Given the description of an element on the screen output the (x, y) to click on. 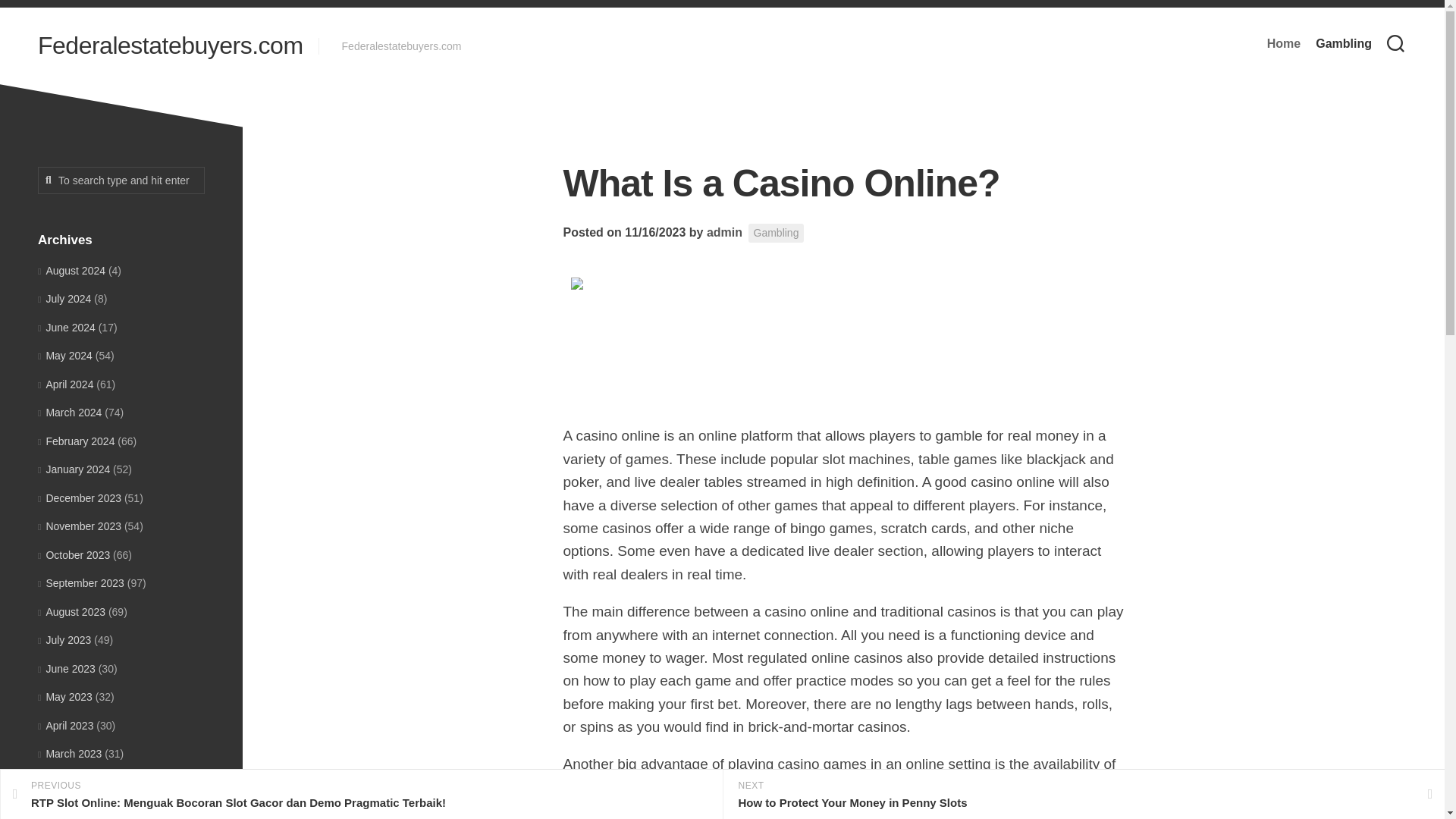
April 2023 (65, 725)
January 2024 (73, 469)
May 2023 (65, 696)
January 2023 (73, 810)
May 2024 (65, 355)
June 2023 (66, 668)
admin (724, 232)
To search type and hit enter (121, 180)
August 2023 (70, 611)
Posts by admin (724, 232)
